Given the description of an element on the screen output the (x, y) to click on. 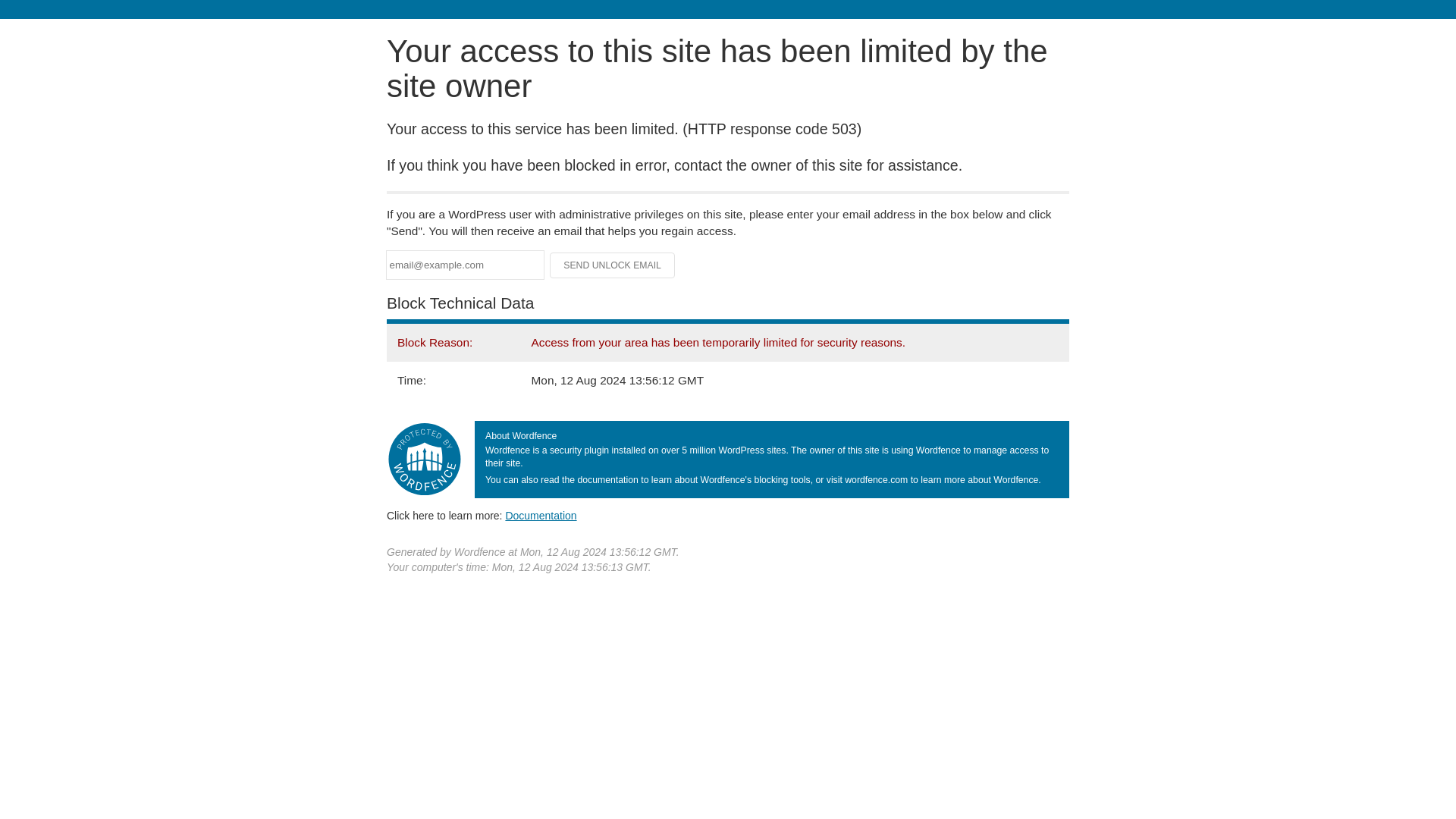
Send Unlock Email (612, 265)
Documentation (540, 515)
Send Unlock Email (612, 265)
